Given the description of an element on the screen output the (x, y) to click on. 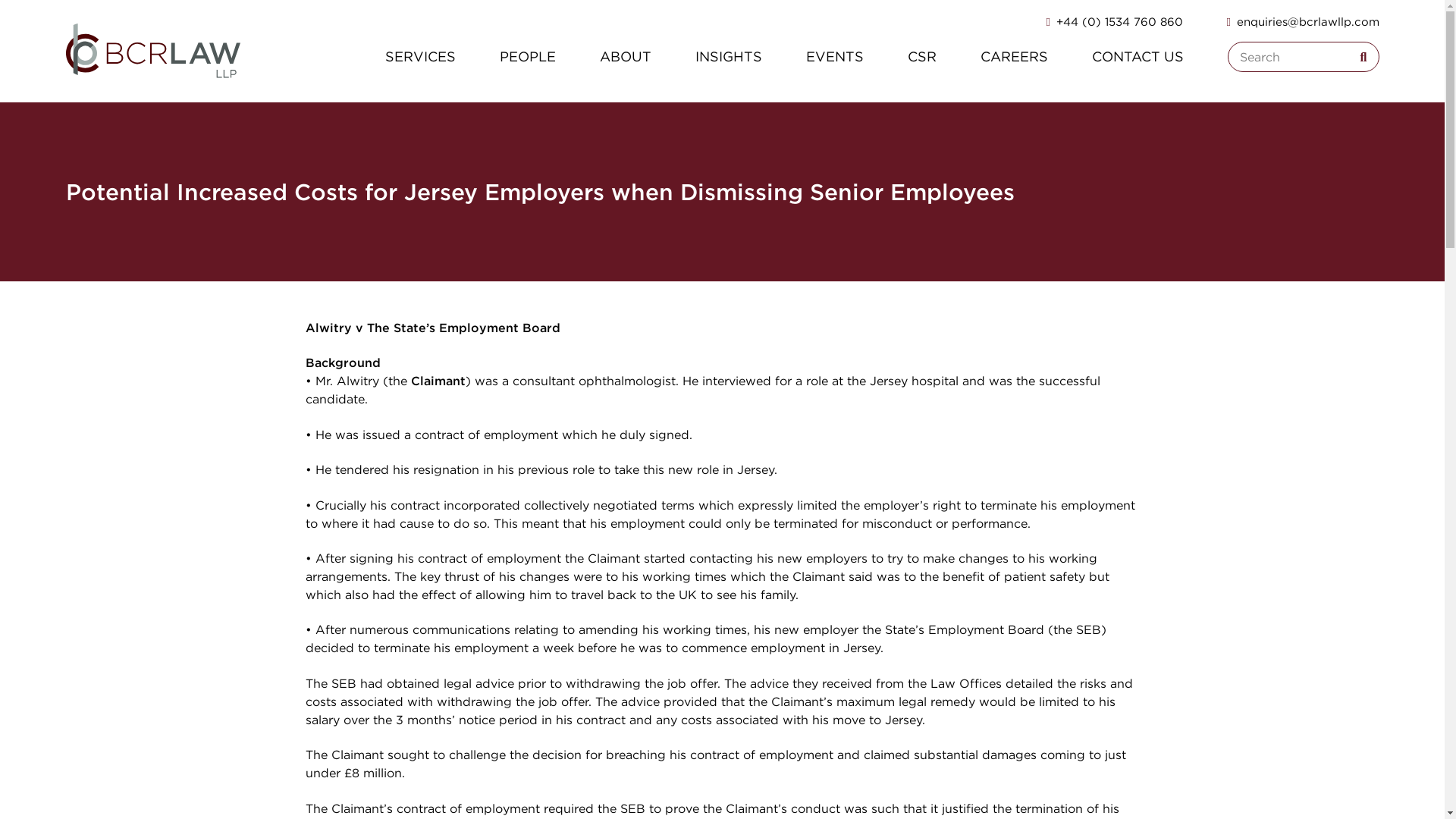
SERVICES (420, 56)
